Given the description of an element on the screen output the (x, y) to click on. 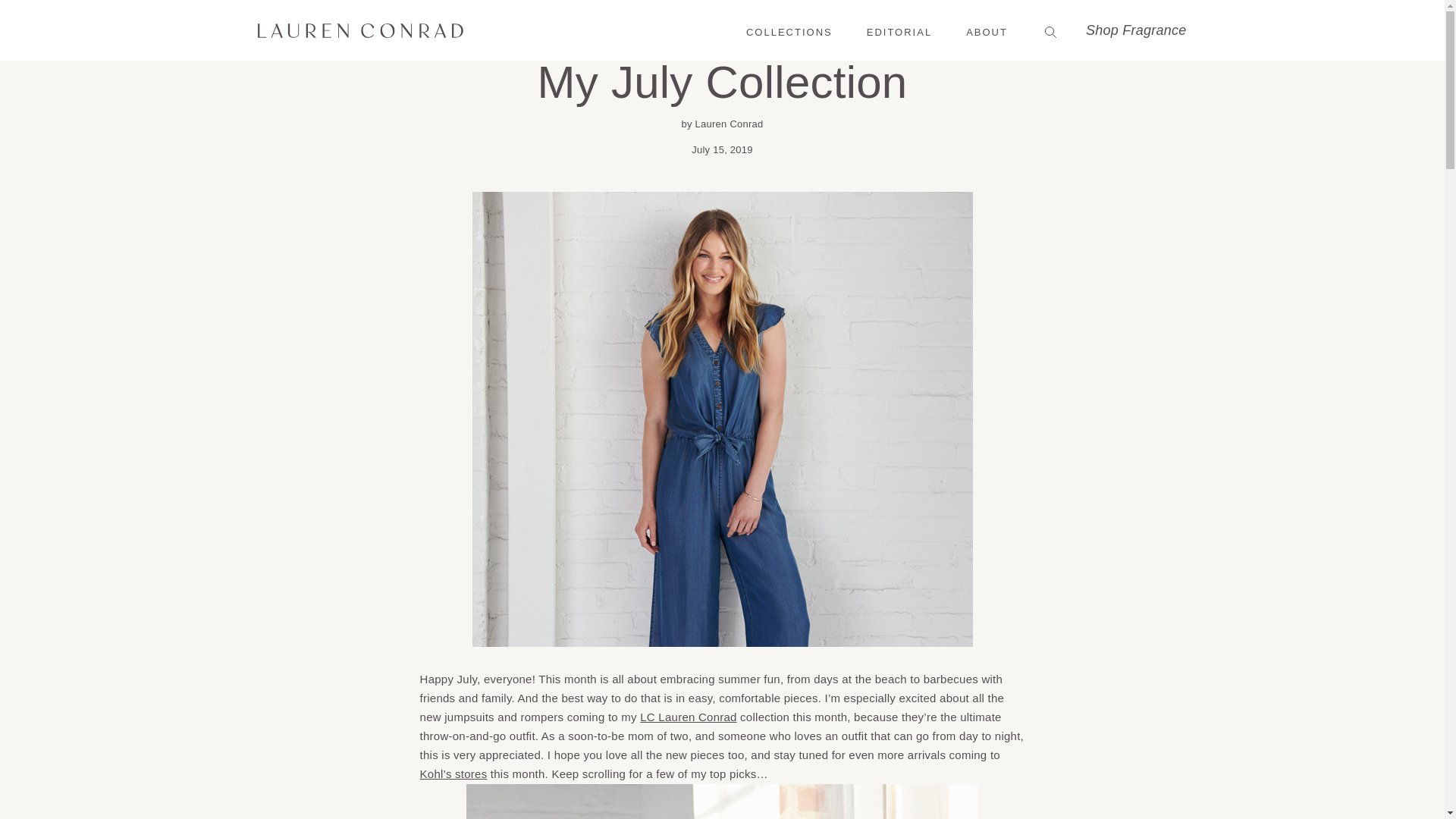
Shop Fragrance (1136, 30)
EDITORIAL (898, 29)
Lauren Conrad (360, 29)
WEAR (722, 40)
Search (1048, 31)
COLLECTIONS (788, 29)
